Given the description of an element on the screen output the (x, y) to click on. 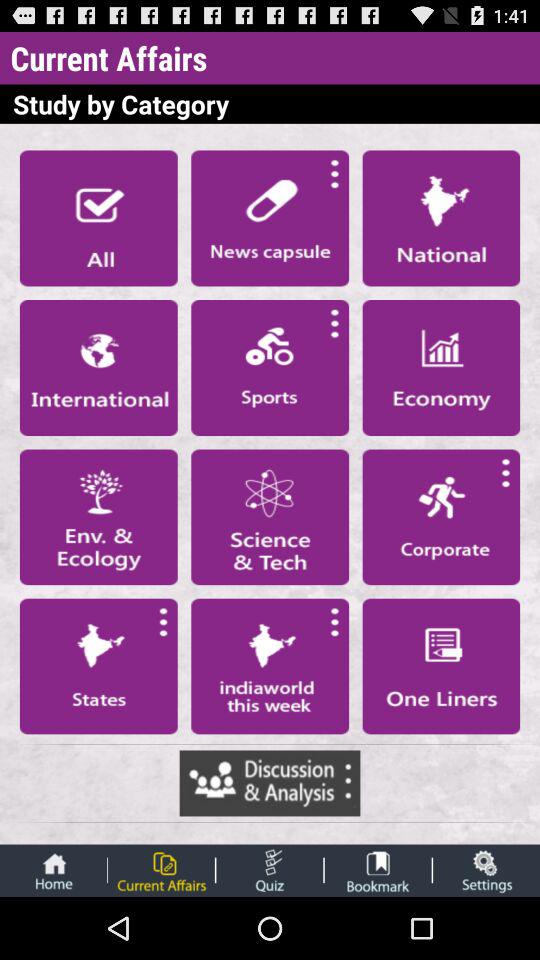
show all categories (98, 218)
